Given the description of an element on the screen output the (x, y) to click on. 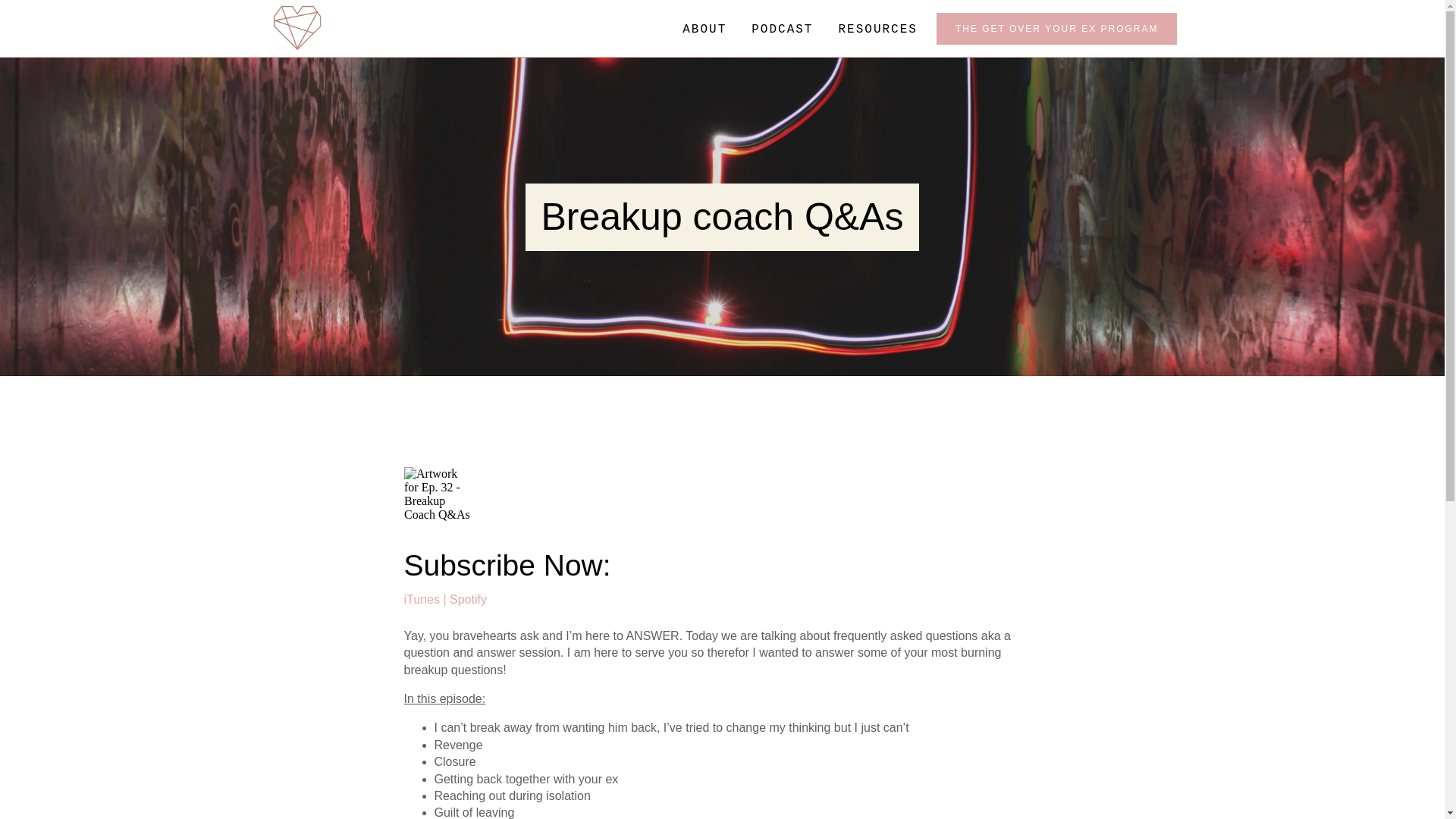
THE GET OVER YOUR EX PROGRAM (1056, 29)
Spotify (467, 599)
RESOURCES (877, 28)
PODCAST (782, 28)
ABOUT (704, 28)
